Given the description of an element on the screen output the (x, y) to click on. 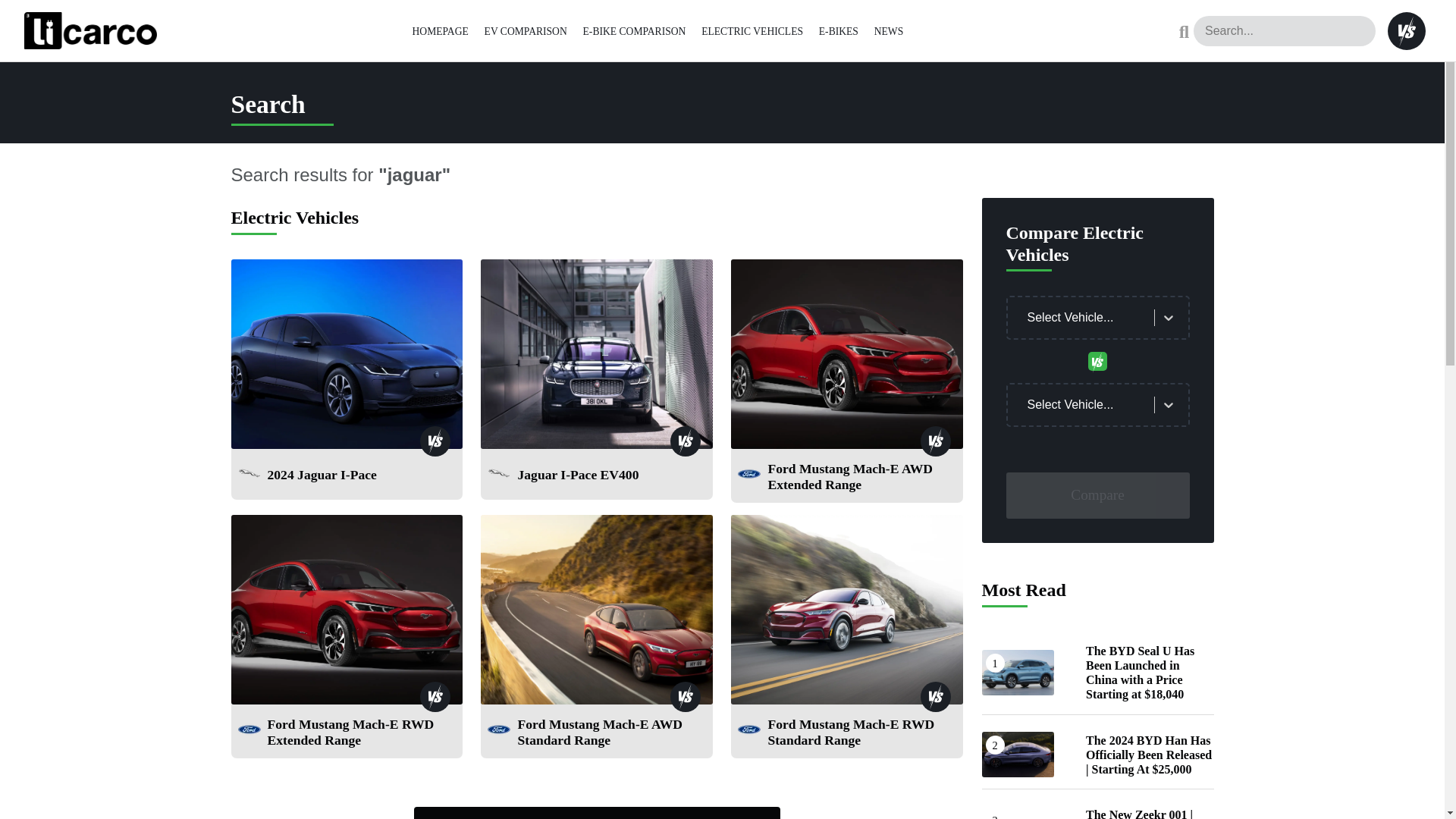
ford-mustang-mach-e-front-studio (346, 609)
ford-mustang-mach-e-front-studio (846, 353)
E-BIKE COMPARISON (634, 30)
E-BIKES (838, 30)
Ford Mustang Mach-E AWD Standard Range (611, 735)
NEWS (889, 30)
Ford Mustang Mach-E RWD Extended Range (361, 735)
Ford Mustang Mach-E RWD Standard Range (861, 735)
ford-mustang-mach-e-driving-experience (846, 609)
jaguar-i-pace-hero-shot-12 (596, 353)
ELECTRIC VEHICLES (752, 30)
More (596, 812)
Jaguar I-Pace EV400 (577, 477)
HOMEPAGE (440, 30)
2024 Jaguar I-Pace (320, 477)
